Given the description of an element on the screen output the (x, y) to click on. 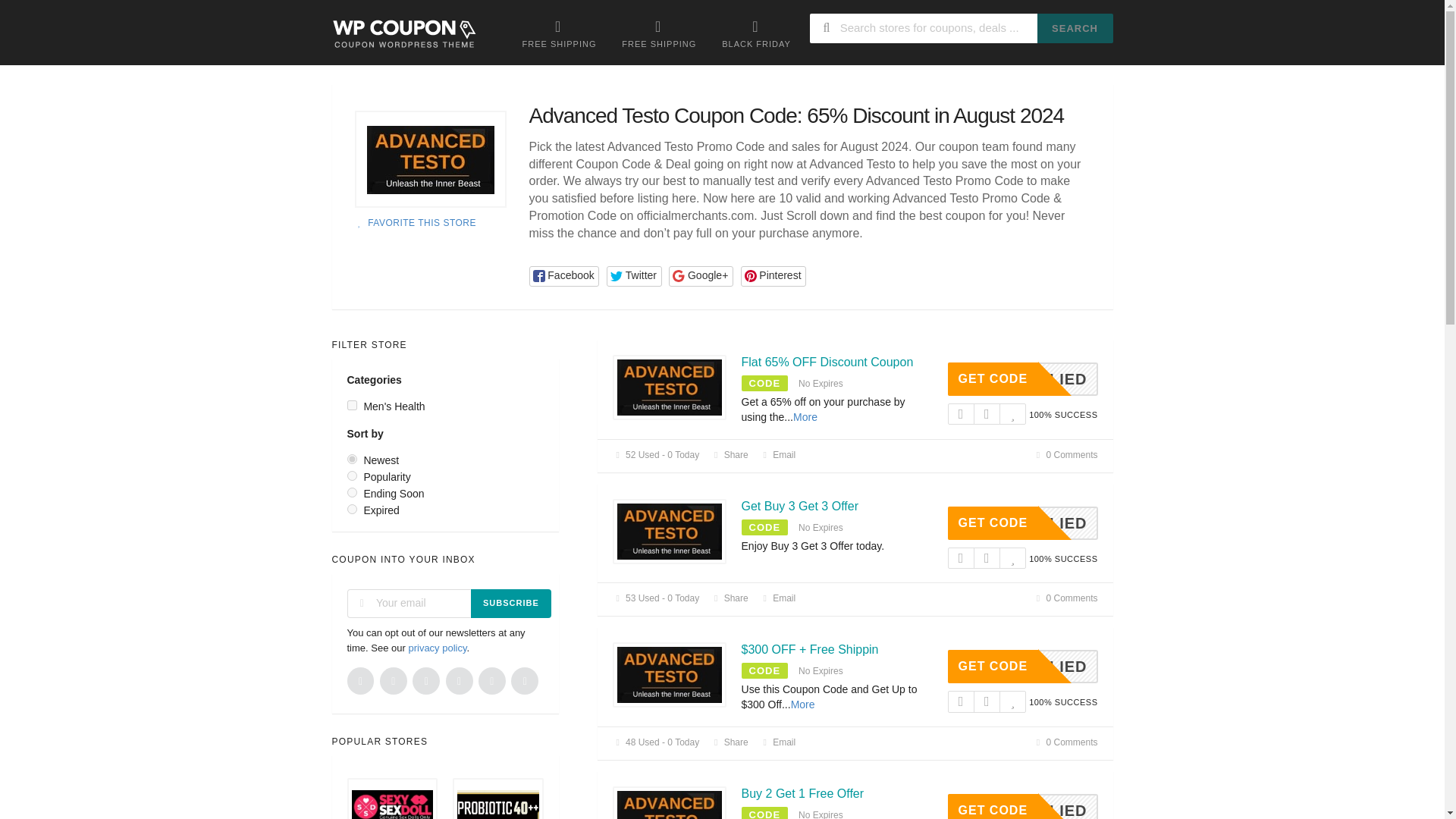
advanced-testo (430, 160)
Email (1022, 378)
mens-health (778, 597)
Coupon Comments (1022, 522)
BLACK FRIDAY (430, 159)
0 Comments (351, 405)
Share link on Twitter (1064, 454)
More (756, 33)
Get Buy 3 Get 3 Offer (1064, 454)
My blog (634, 276)
Share link on Facebook (804, 417)
newest (800, 505)
